Given the description of an element on the screen output the (x, y) to click on. 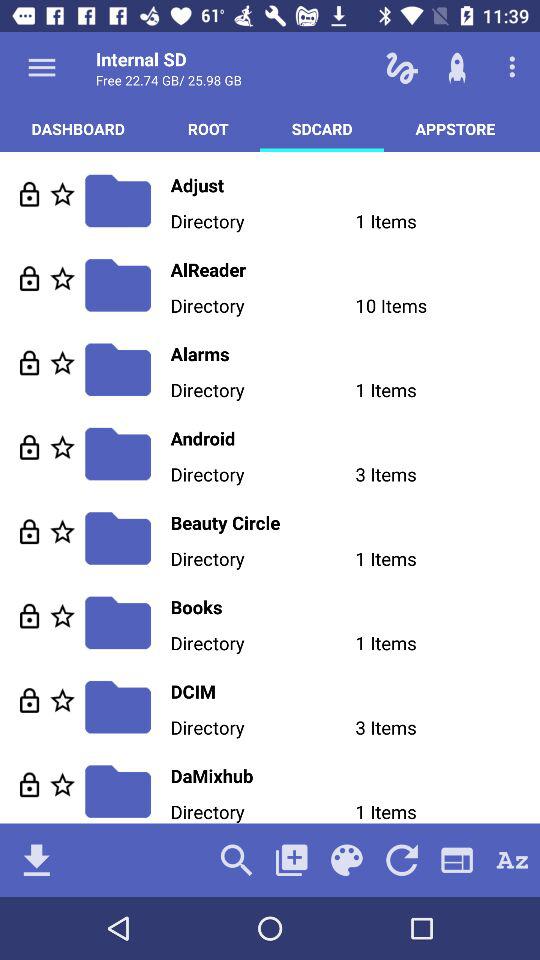
make the content as favourite (62, 531)
